Given the description of an element on the screen output the (x, y) to click on. 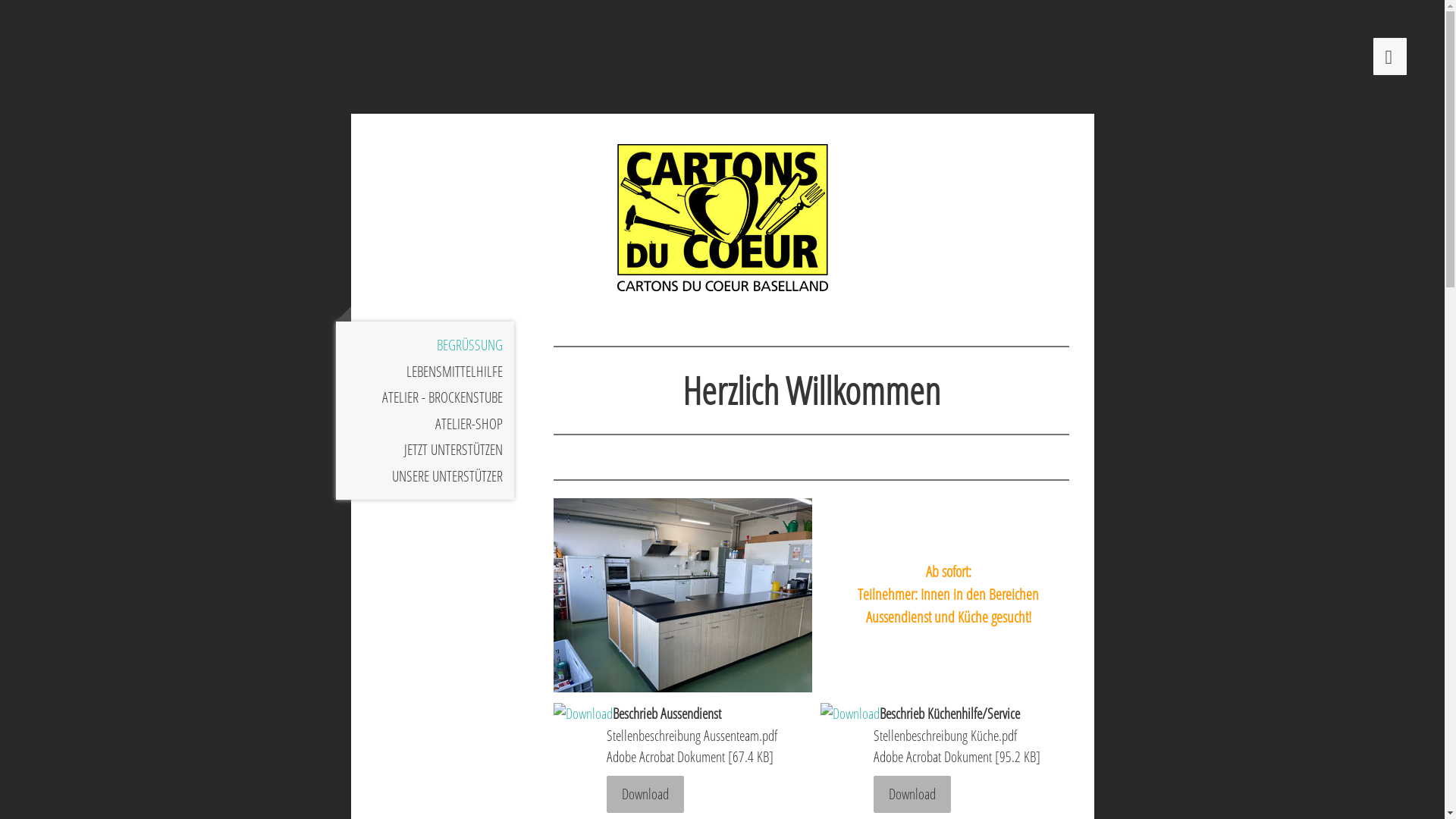
Download Element type: text (645, 793)
ATELIER-SHOP Element type: text (424, 424)
ATELIER - BROCKENSTUBE Element type: text (424, 397)
LEBENSMITTELHILFE Element type: text (424, 370)
Download Element type: text (911, 793)
